Given the description of an element on the screen output the (x, y) to click on. 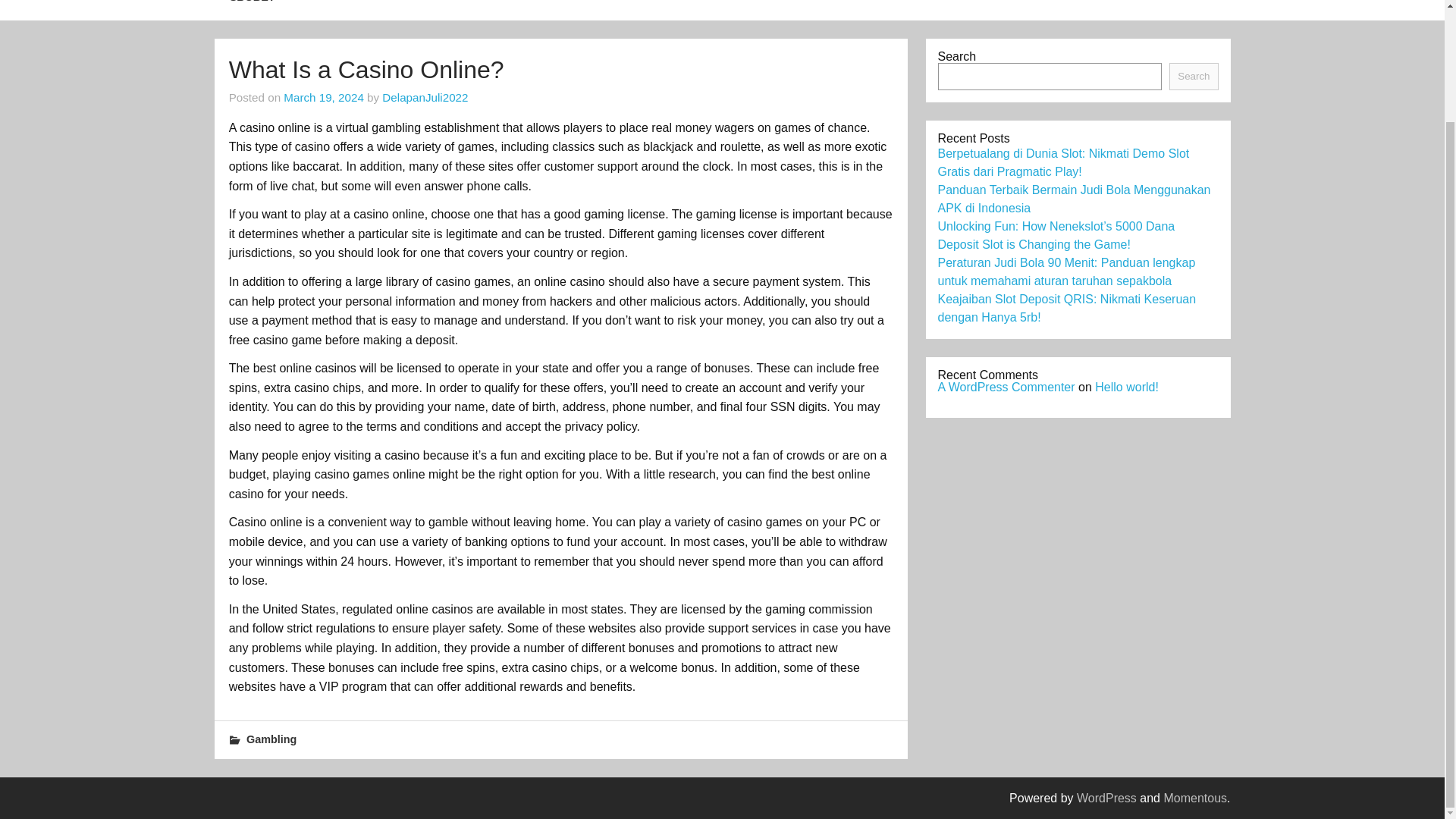
Gambling (271, 739)
SBOBET (251, 9)
DelapanJuli2022 (424, 97)
March 19, 2024 (323, 97)
WordPress (1107, 797)
Hello world! (1126, 386)
View all posts by DelapanJuli2022 (424, 97)
Momentous (1195, 797)
WordPress (1107, 797)
